Given the description of an element on the screen output the (x, y) to click on. 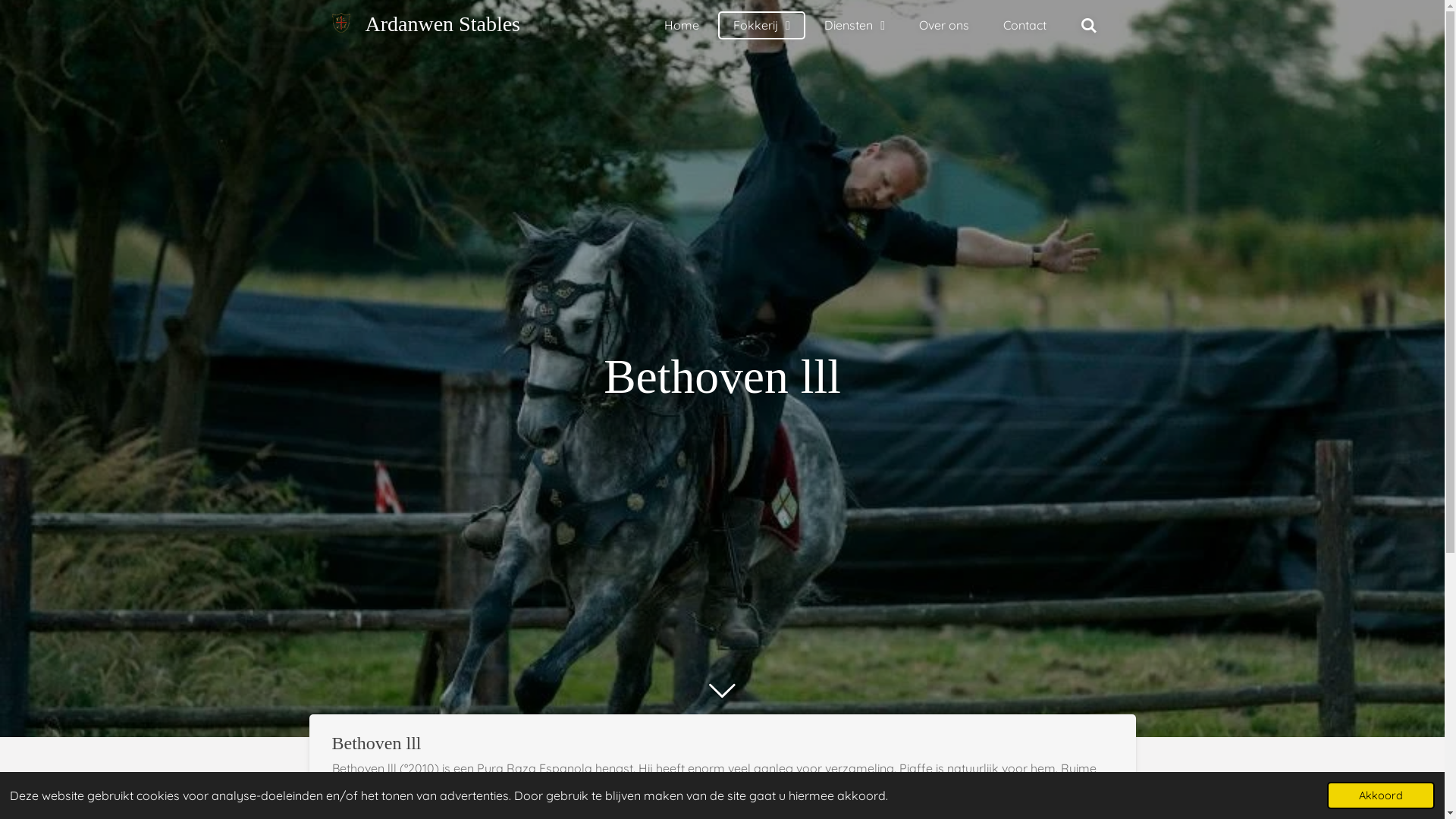
Akkoord Element type: text (1380, 795)
Zoeken Element type: hover (1088, 24)
Home Element type: text (681, 24)
Diensten Element type: text (854, 25)
Ardanwen Stables Element type: hover (341, 22)
Ardanwen Stables Element type: text (442, 23)
Fokkerij Element type: text (761, 25)
Over ons Element type: text (943, 24)
Contact Element type: text (1024, 24)
